Given the description of an element on the screen output the (x, y) to click on. 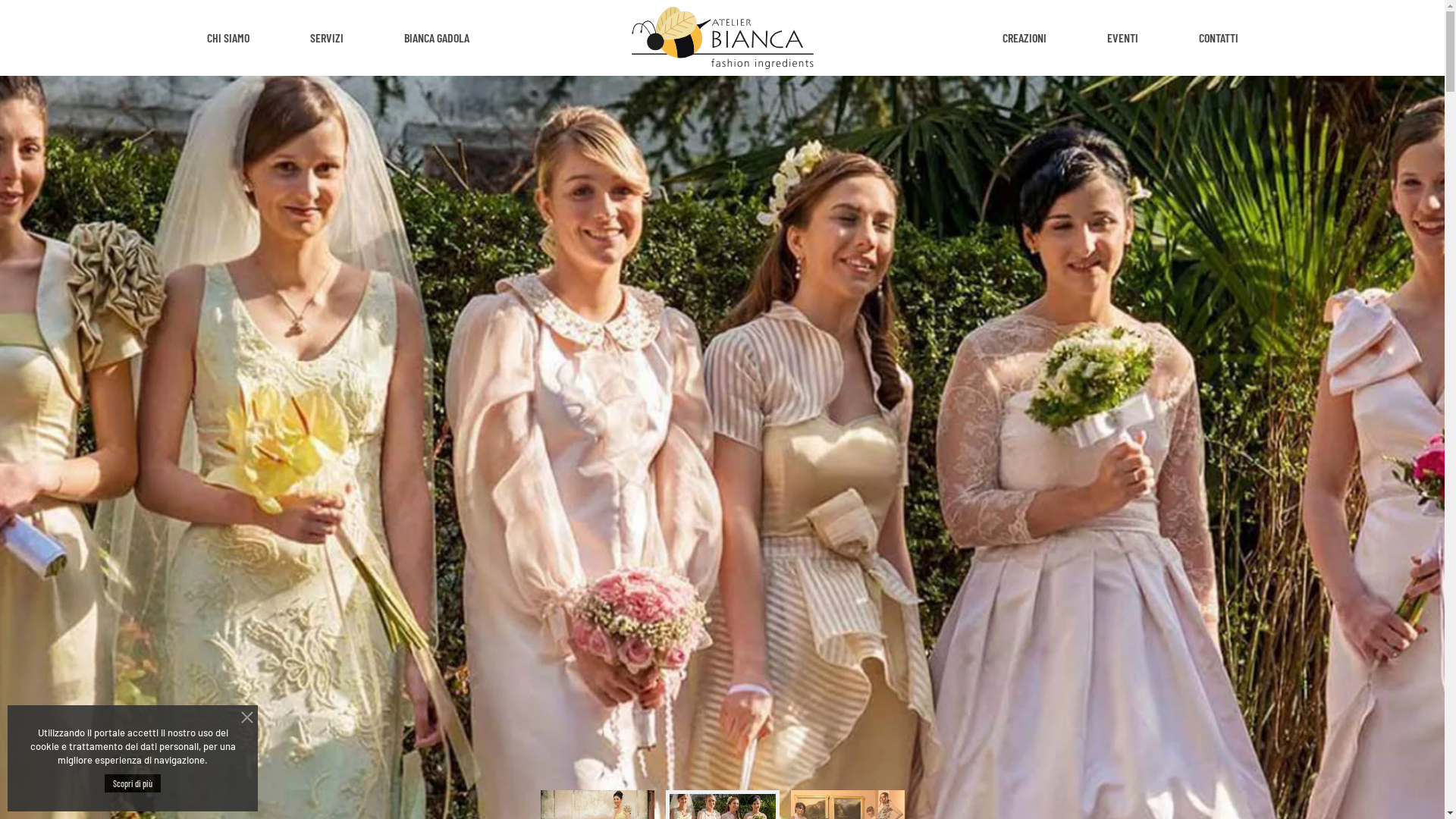
CONTATTI Element type: text (1217, 37)
CHI SIAMO Element type: text (227, 37)
BIANCA GADOLA Element type: text (435, 37)
SERVIZI Element type: text (326, 37)
CREAZIONI Element type: text (1024, 37)
EVENTI Element type: text (1122, 37)
